Given the description of an element on the screen output the (x, y) to click on. 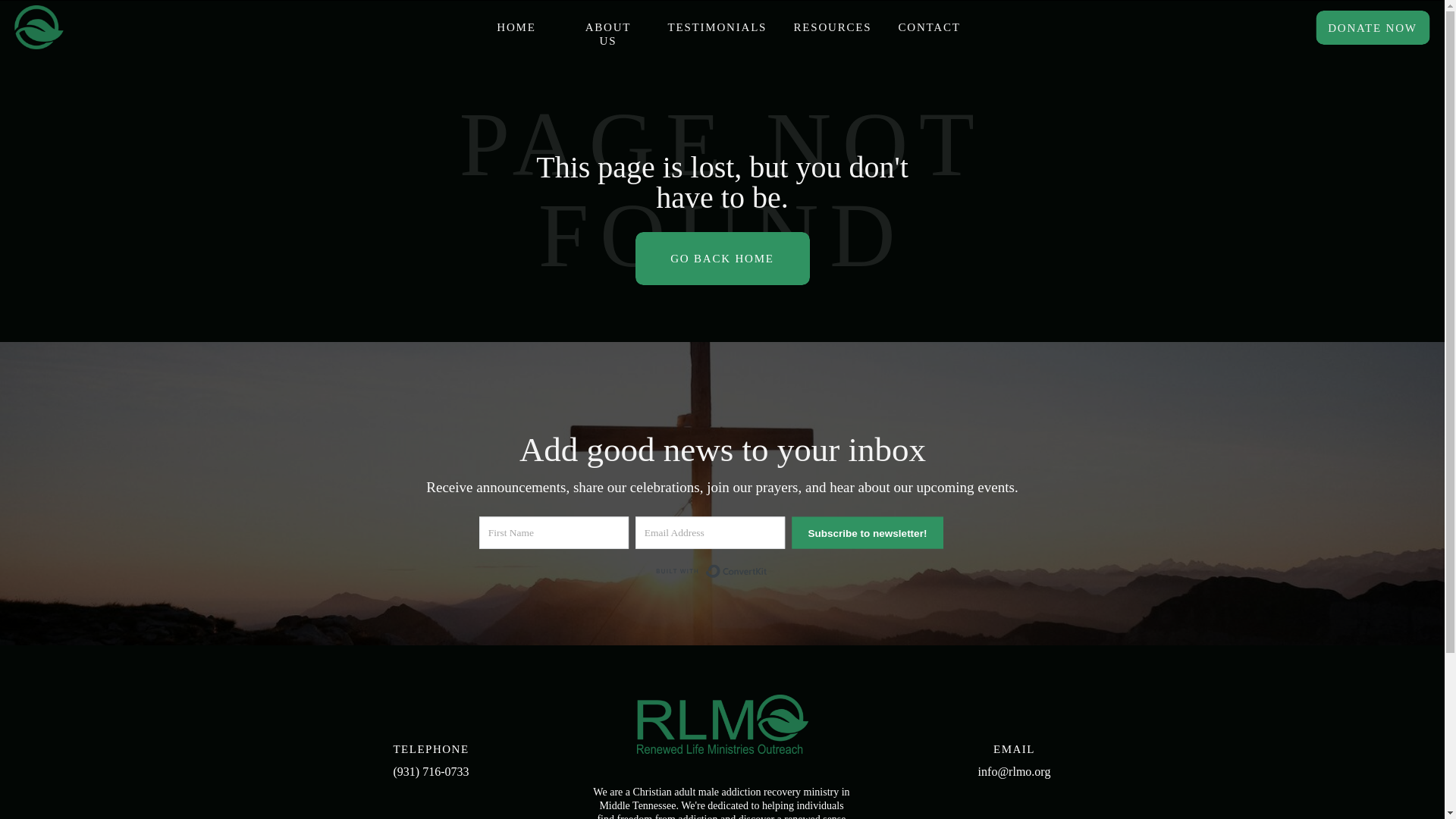
Built with ConvertKit (716, 572)
DONATE NOW (1372, 27)
TESTIMONIALS (715, 27)
GO BACK HOME (722, 258)
HOME (516, 27)
RESOURCES (831, 27)
ABOUT US (608, 27)
Subscribe to newsletter! (874, 534)
CONTACT (928, 27)
